Given the description of an element on the screen output the (x, y) to click on. 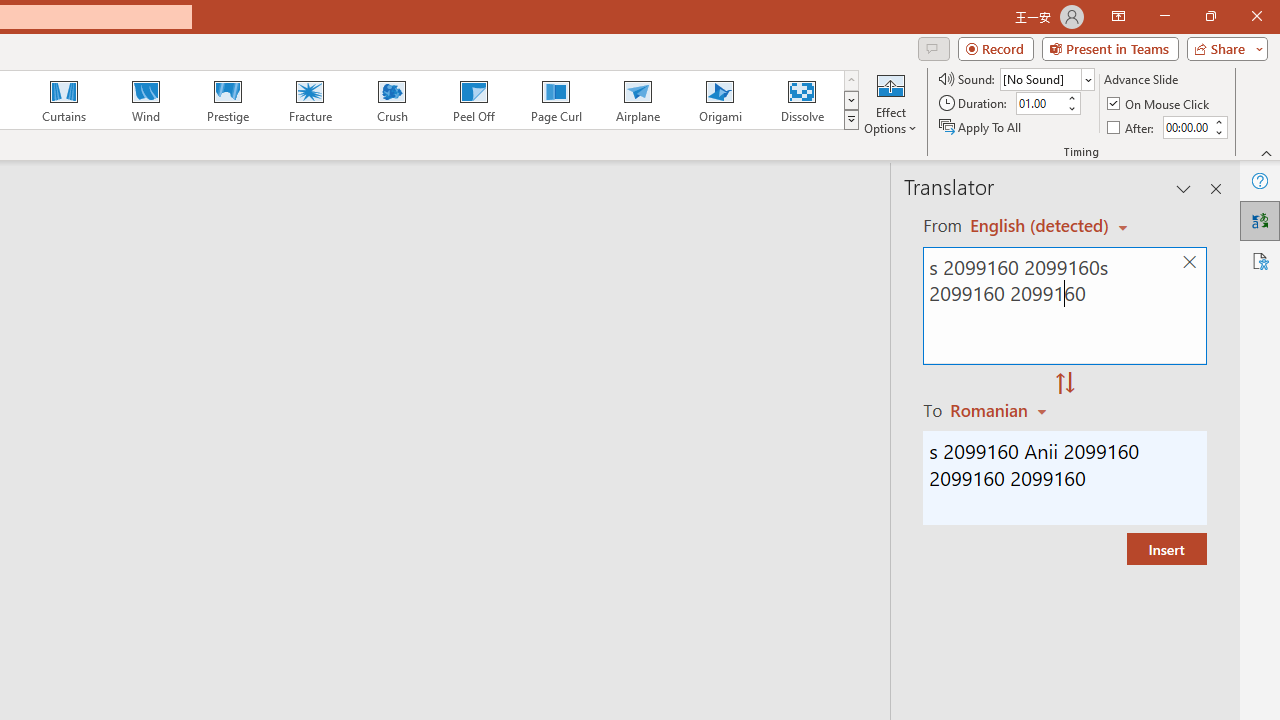
Page Curl (555, 100)
Romanian (1001, 409)
Wind (145, 100)
Transition Effects (850, 120)
